Given the description of an element on the screen output the (x, y) to click on. 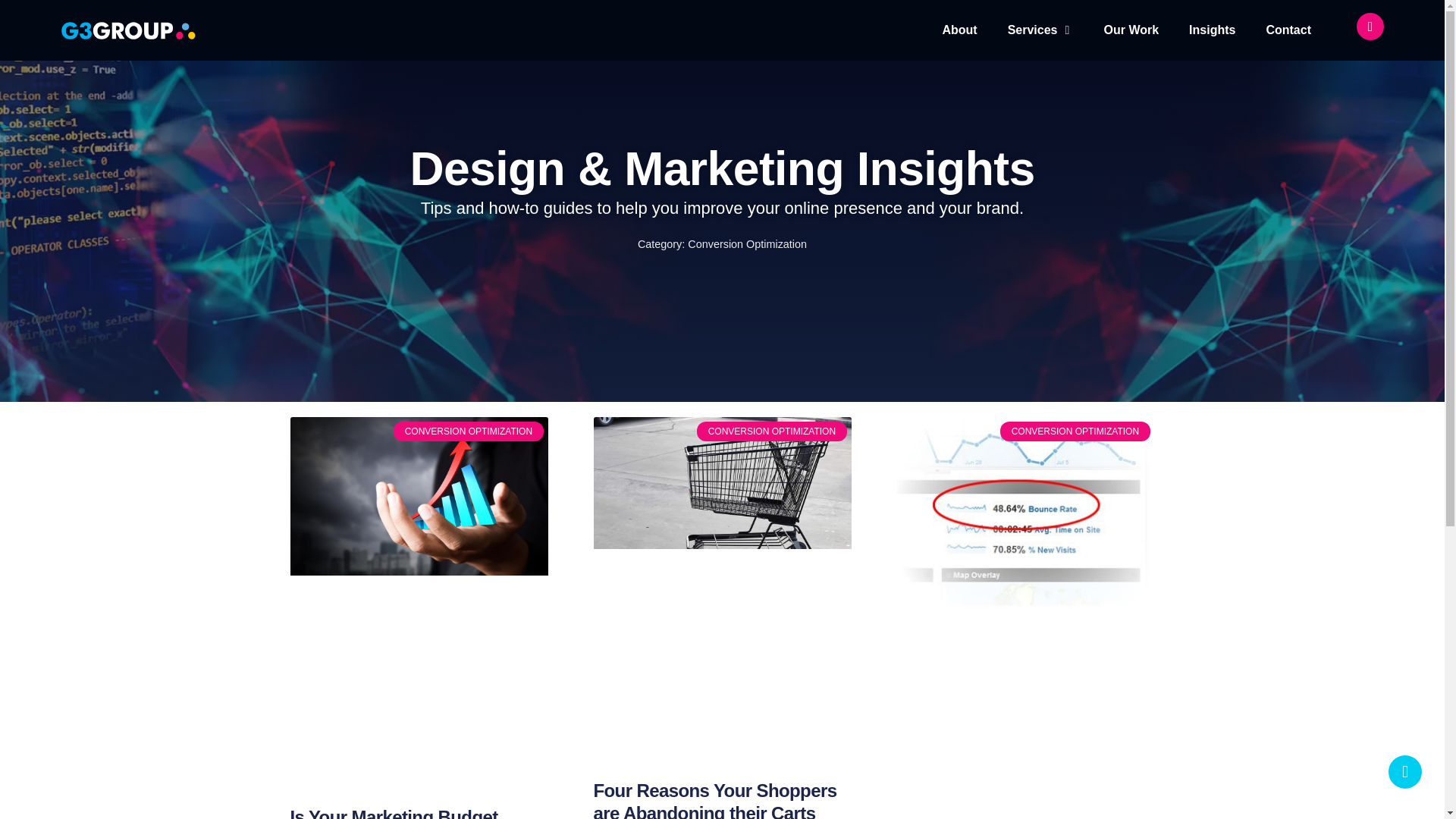
About (959, 30)
Contact (1288, 30)
scroll to top (1405, 771)
Our Work (1130, 30)
View Contacts (1370, 26)
Services (1032, 30)
Insights (1211, 30)
